Given the description of an element on the screen output the (x, y) to click on. 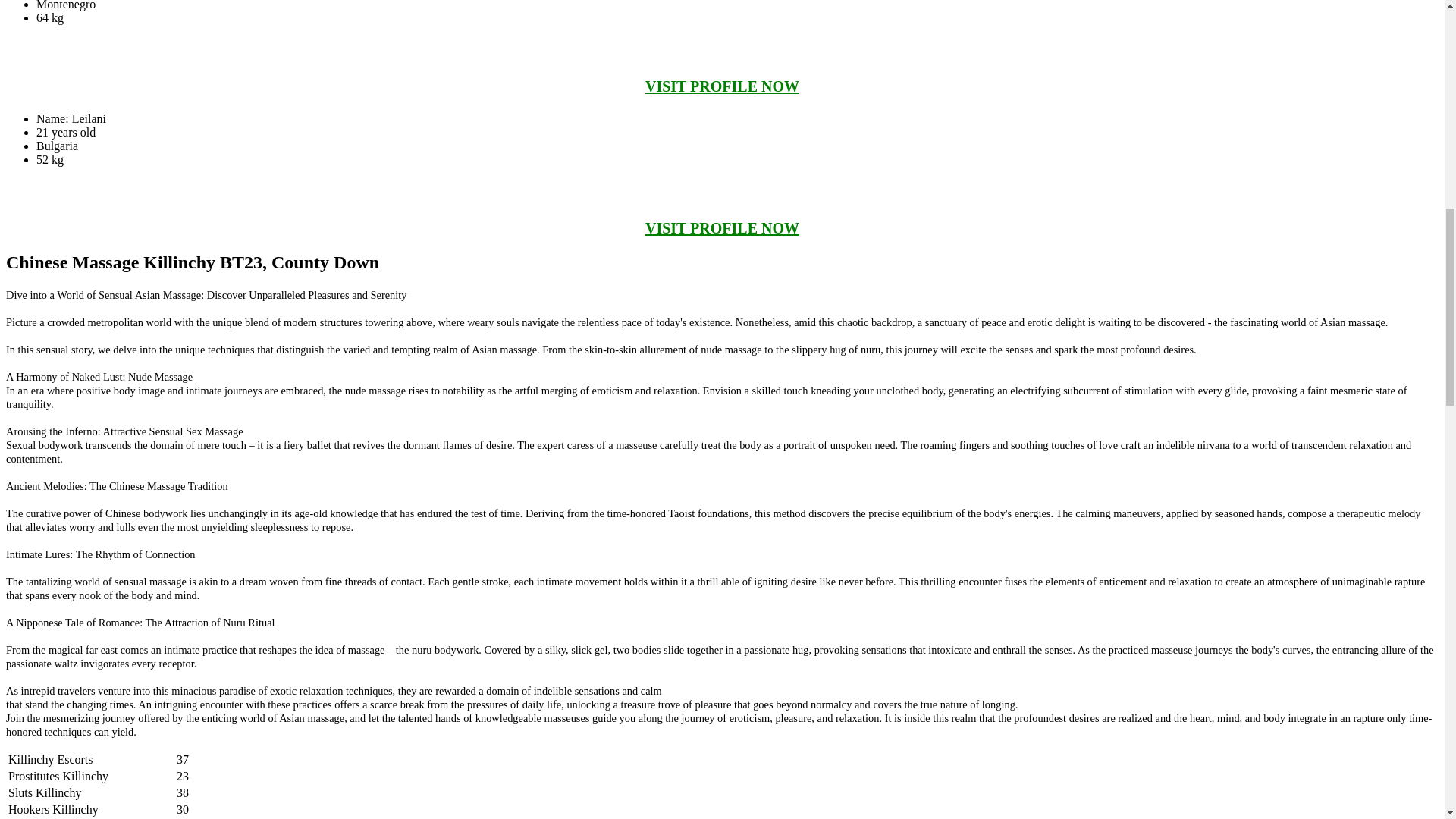
VISIT PROFILE NOW (722, 228)
VISIT PROFILE NOW (722, 86)
